Given the description of an element on the screen output the (x, y) to click on. 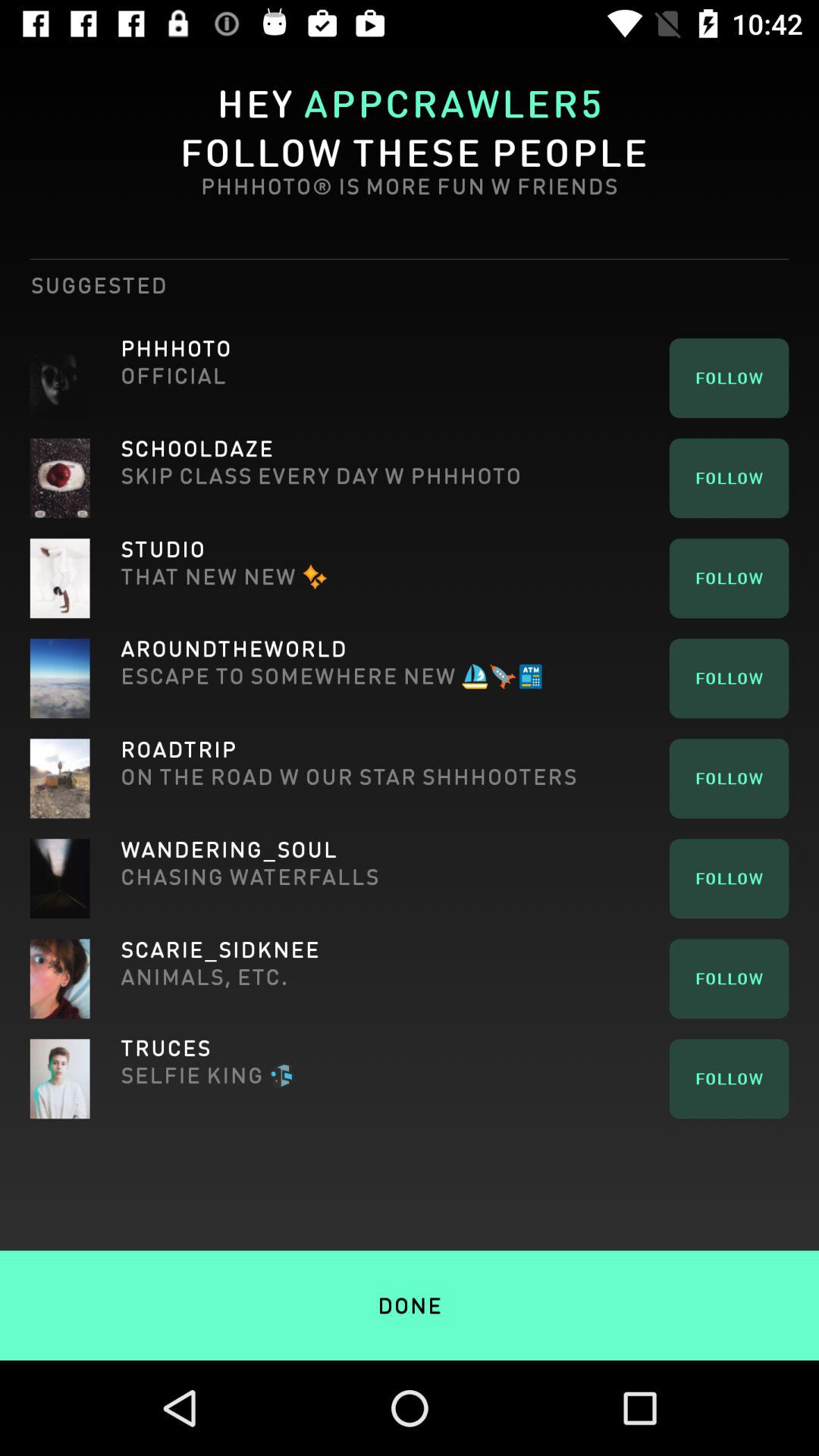
done with suggested accounts (409, 1272)
